Given the description of an element on the screen output the (x, y) to click on. 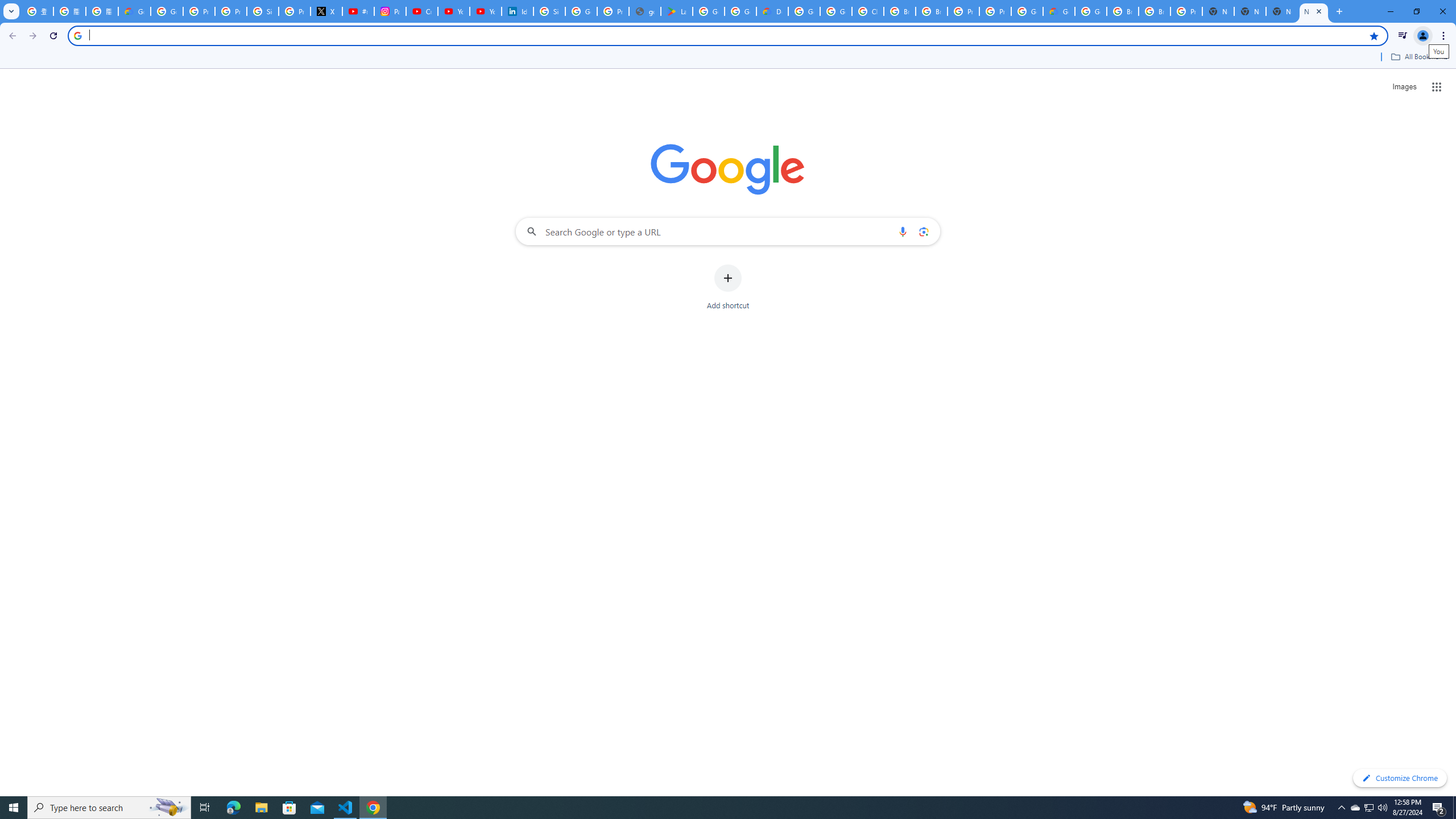
Bookmarks (728, 58)
Last Shelter: Survival - Apps on Google Play (676, 11)
Add shortcut (727, 287)
Sign in - Google Accounts (549, 11)
Google Cloud Privacy Notice (134, 11)
google_privacy_policy_en.pdf (644, 11)
All Bookmarks (1418, 56)
New Tab (1281, 11)
Control your music, videos, and more (1402, 35)
